Given the description of an element on the screen output the (x, y) to click on. 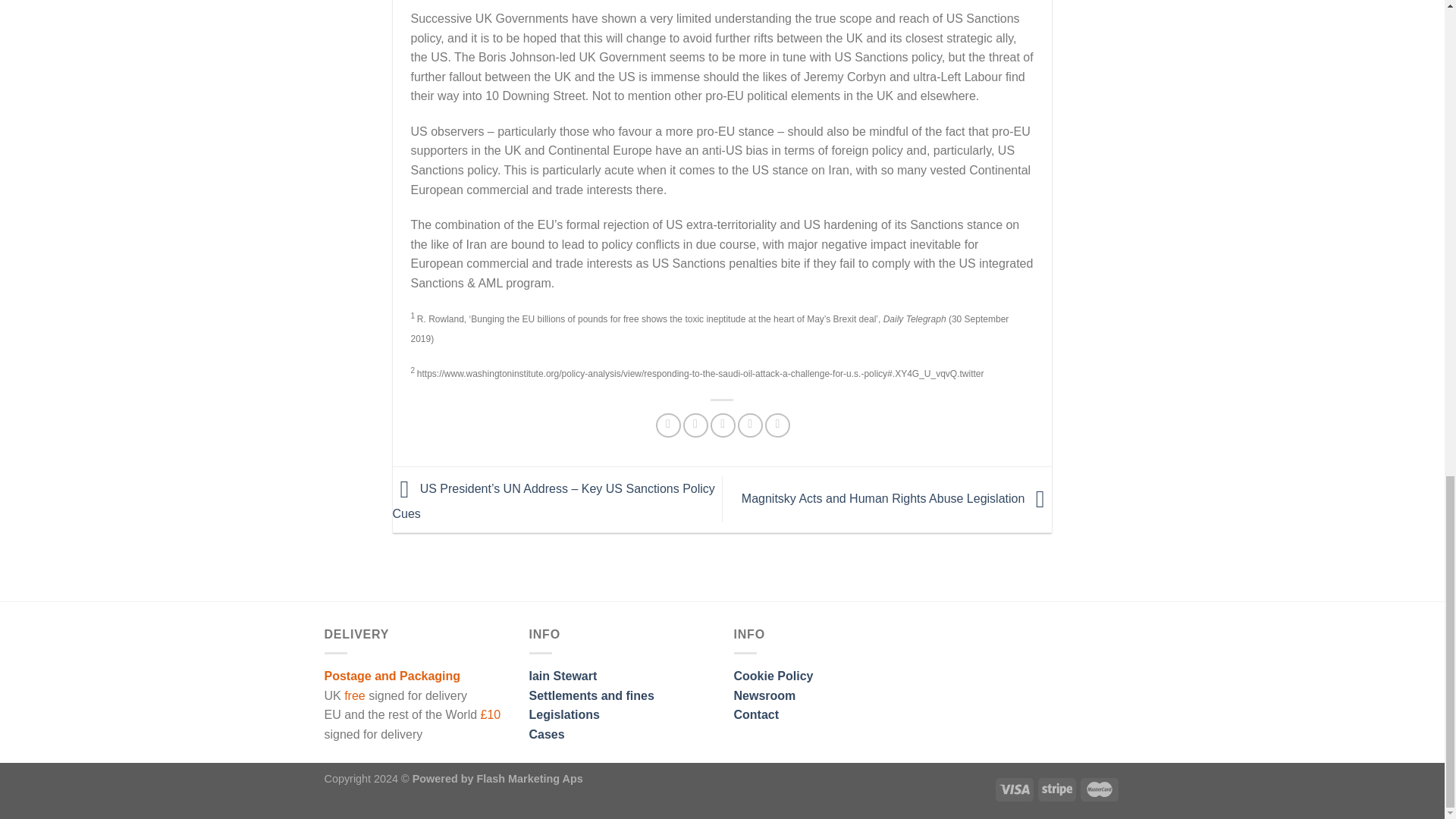
Share on LinkedIn (777, 425)
Cases (546, 734)
Share on Twitter (694, 425)
Iain Stewart (562, 675)
Contact (755, 714)
Pin on Pinterest (750, 425)
Magnitsky Acts and Human Rights Abuse Legislation (896, 498)
Email to a Friend (722, 425)
Cookie Policy (773, 675)
Share on Facebook (668, 425)
